Given the description of an element on the screen output the (x, y) to click on. 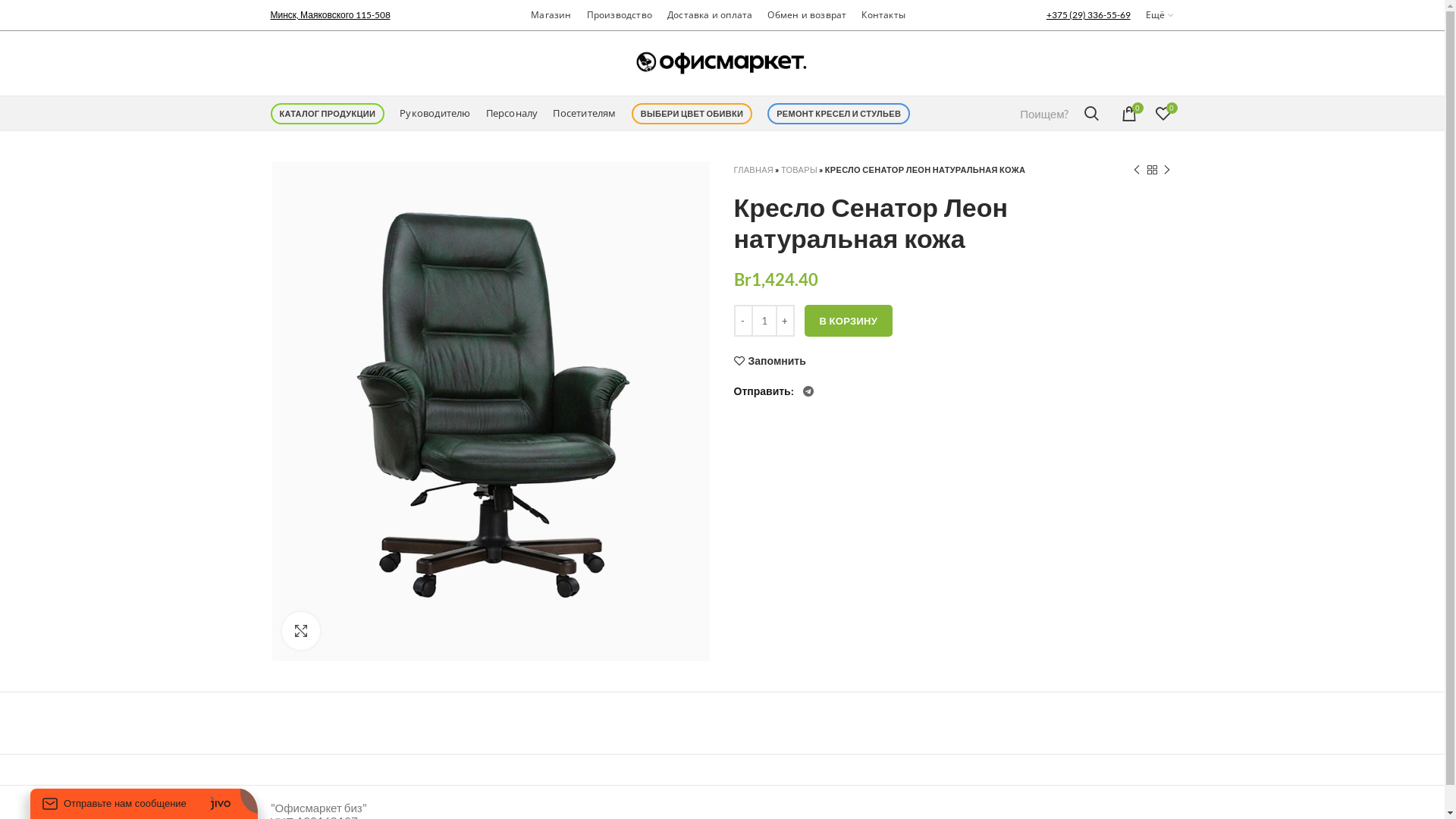
Telegram Element type: text (808, 391)
Previous product Element type: text (1135, 169)
0 Element type: text (1128, 113)
0 Element type: text (1163, 113)
Next product Element type: text (1165, 169)
Search Element type: hover (1091, 113)
kreslo-senator-leon-kozha Element type: hover (490, 411)
